Given the description of an element on the screen output the (x, y) to click on. 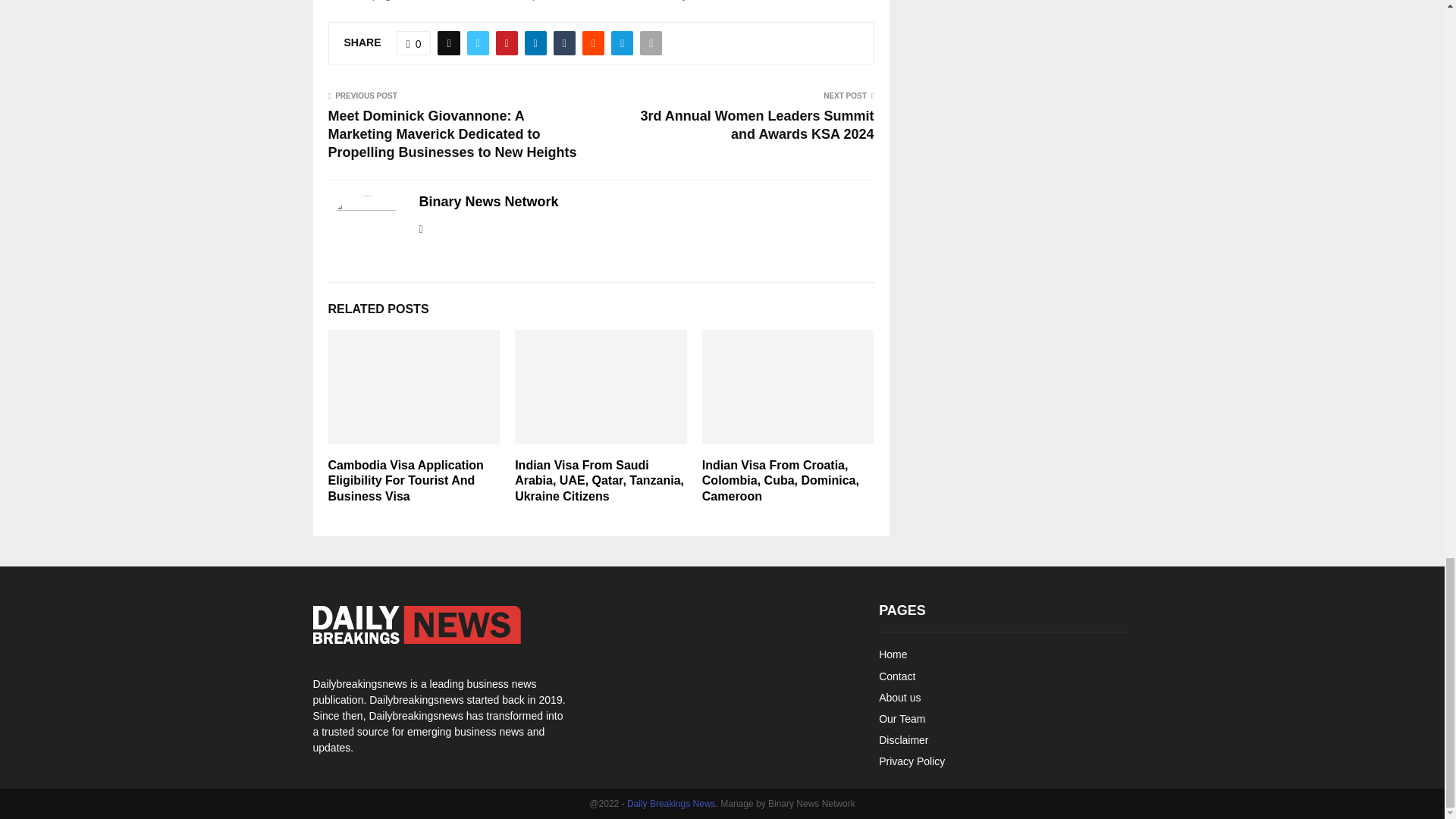
Like (413, 43)
